Given the description of an element on the screen output the (x, y) to click on. 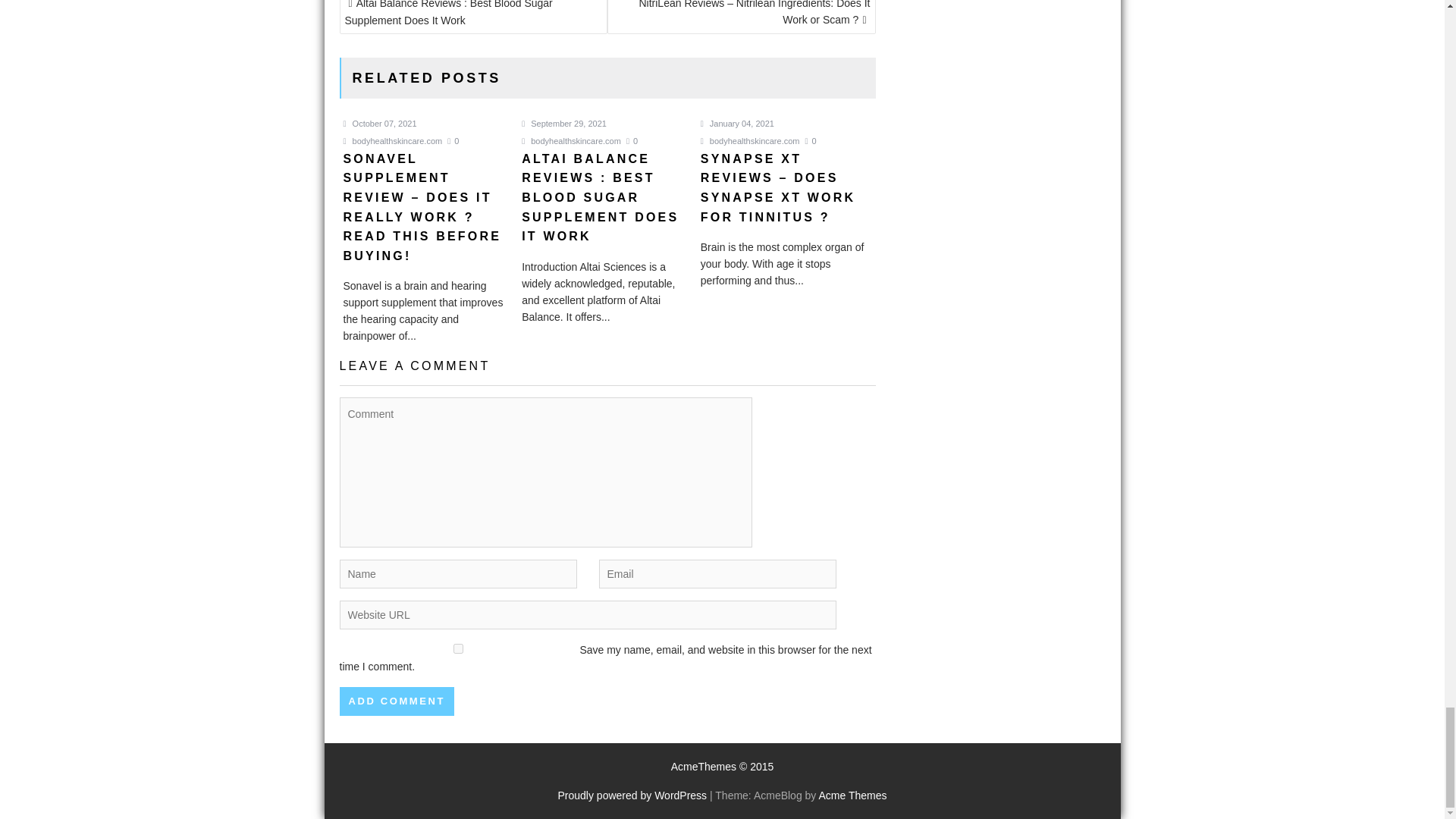
bodyhealthskincare.com (392, 140)
Add Comment (396, 701)
October 07, 2021 (379, 122)
bodyhealthskincare.com (749, 140)
September 29, 2021 (564, 122)
bodyhealthskincare.com (571, 140)
bodyhealthskincare.com (392, 140)
yes (457, 648)
0 (452, 140)
